Given the description of an element on the screen output the (x, y) to click on. 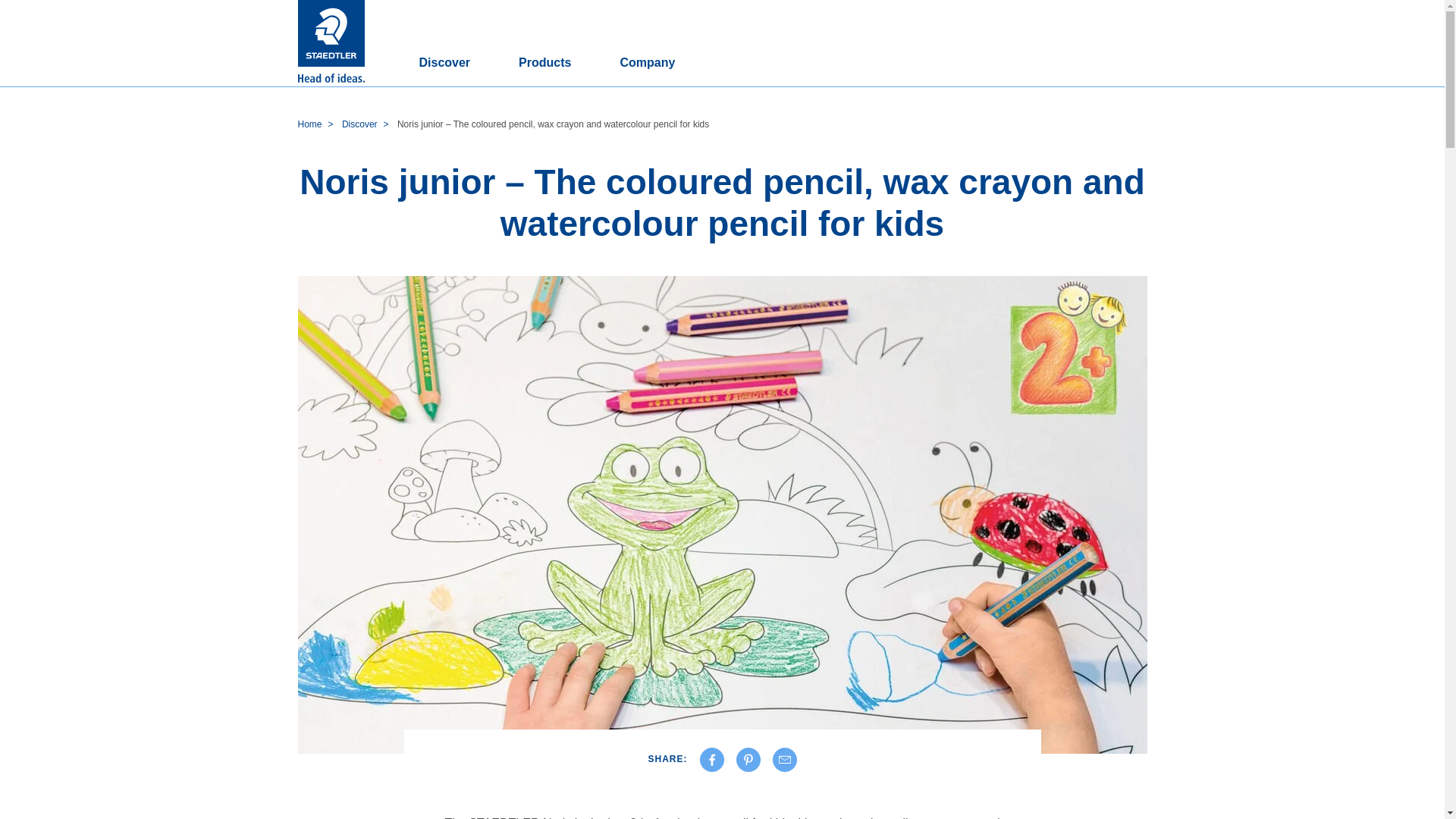
Discover (443, 63)
STAEDTLER (330, 33)
Products (544, 63)
STAEDTLER (330, 43)
Products (544, 63)
Discover (443, 63)
